Given the description of an element on the screen output the (x, y) to click on. 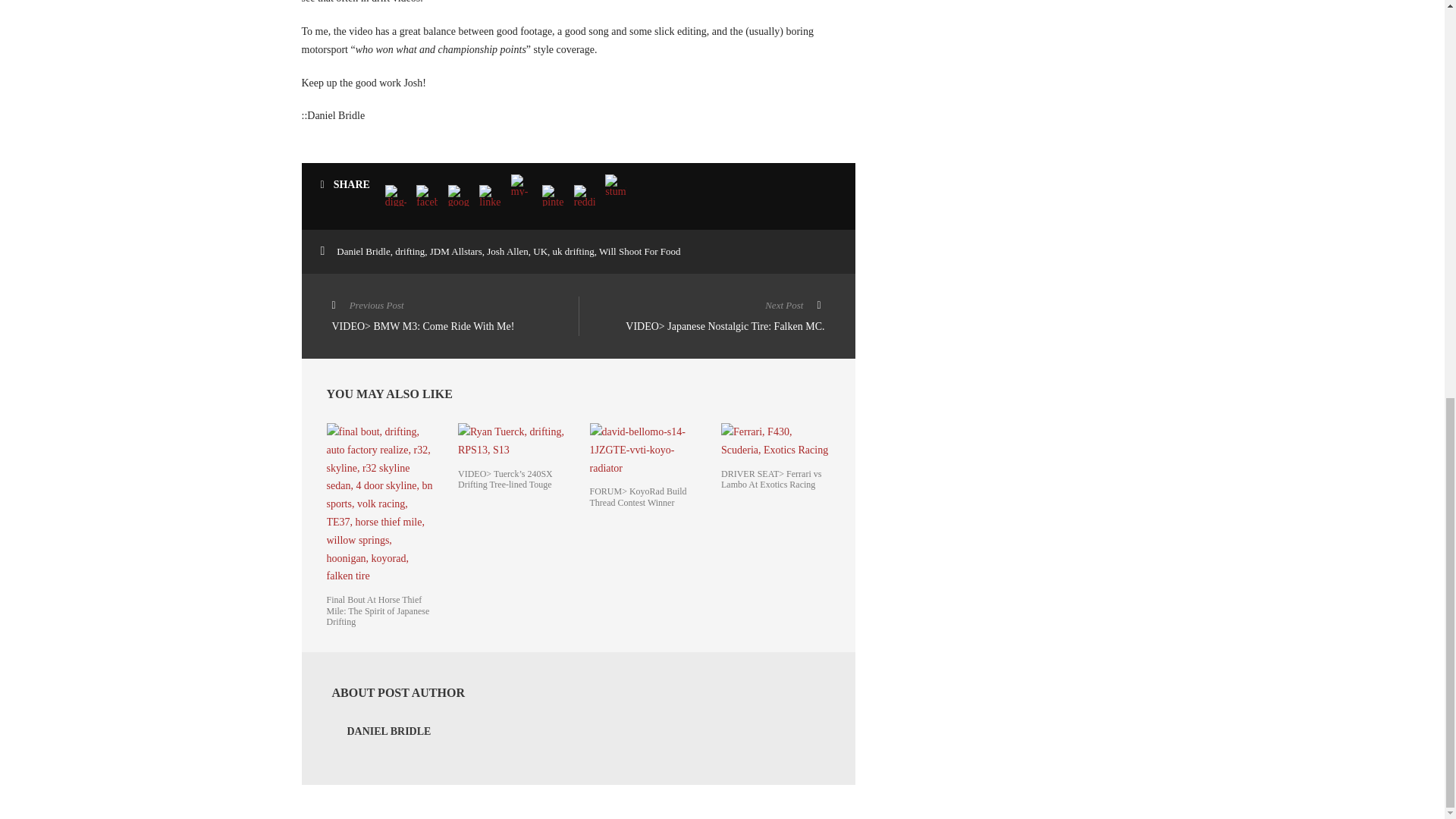
Daniel Bridle (363, 251)
uk drifting (573, 251)
Josh Allen (507, 251)
JDM Allstars (455, 251)
UK (539, 251)
Posts by Daniel Bridle (388, 731)
drifting (409, 251)
